Given the description of an element on the screen output the (x, y) to click on. 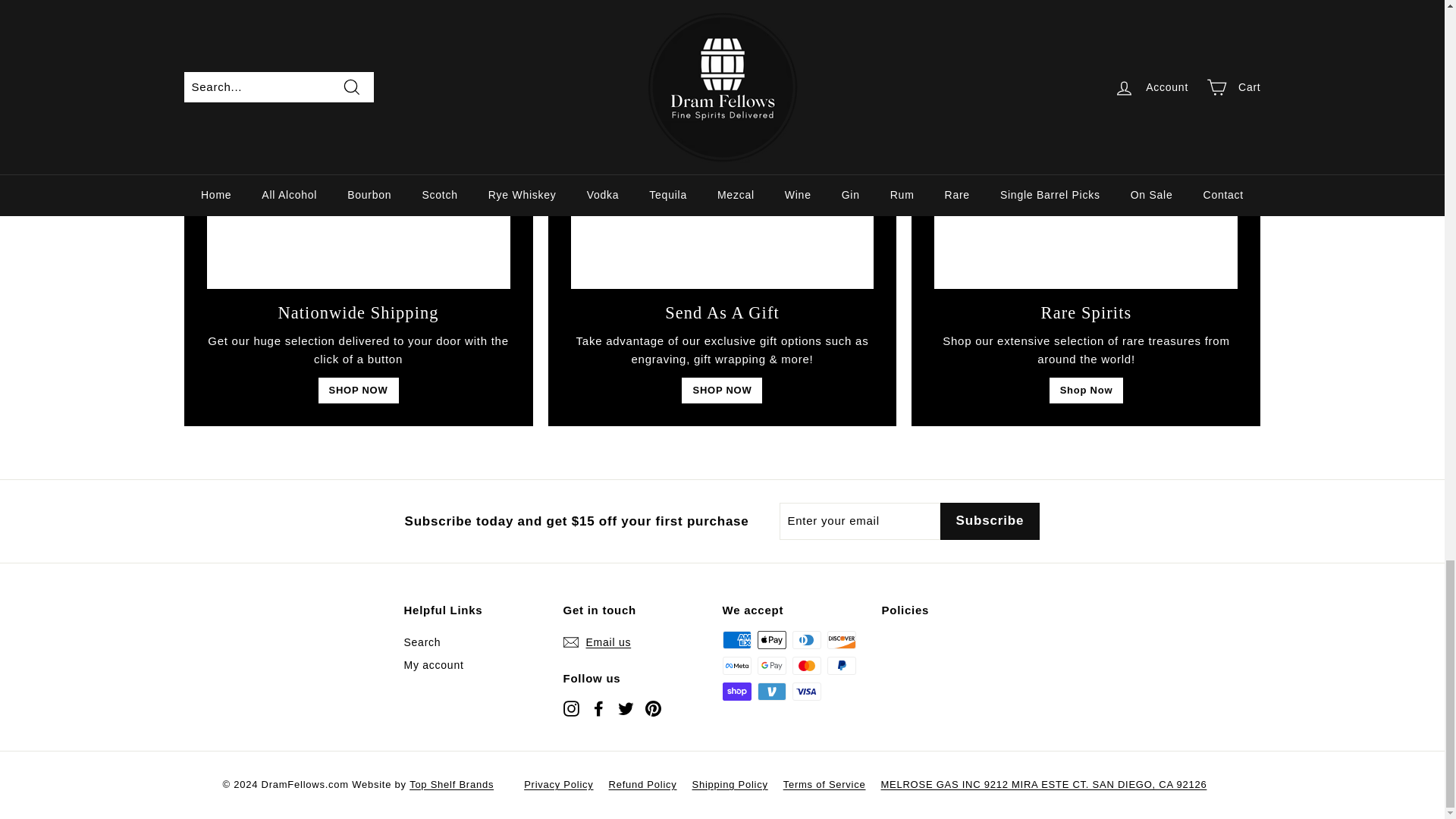
DramFellows.com on Instagram (570, 707)
DramFellows.com on Facebook (597, 707)
